Given the description of an element on the screen output the (x, y) to click on. 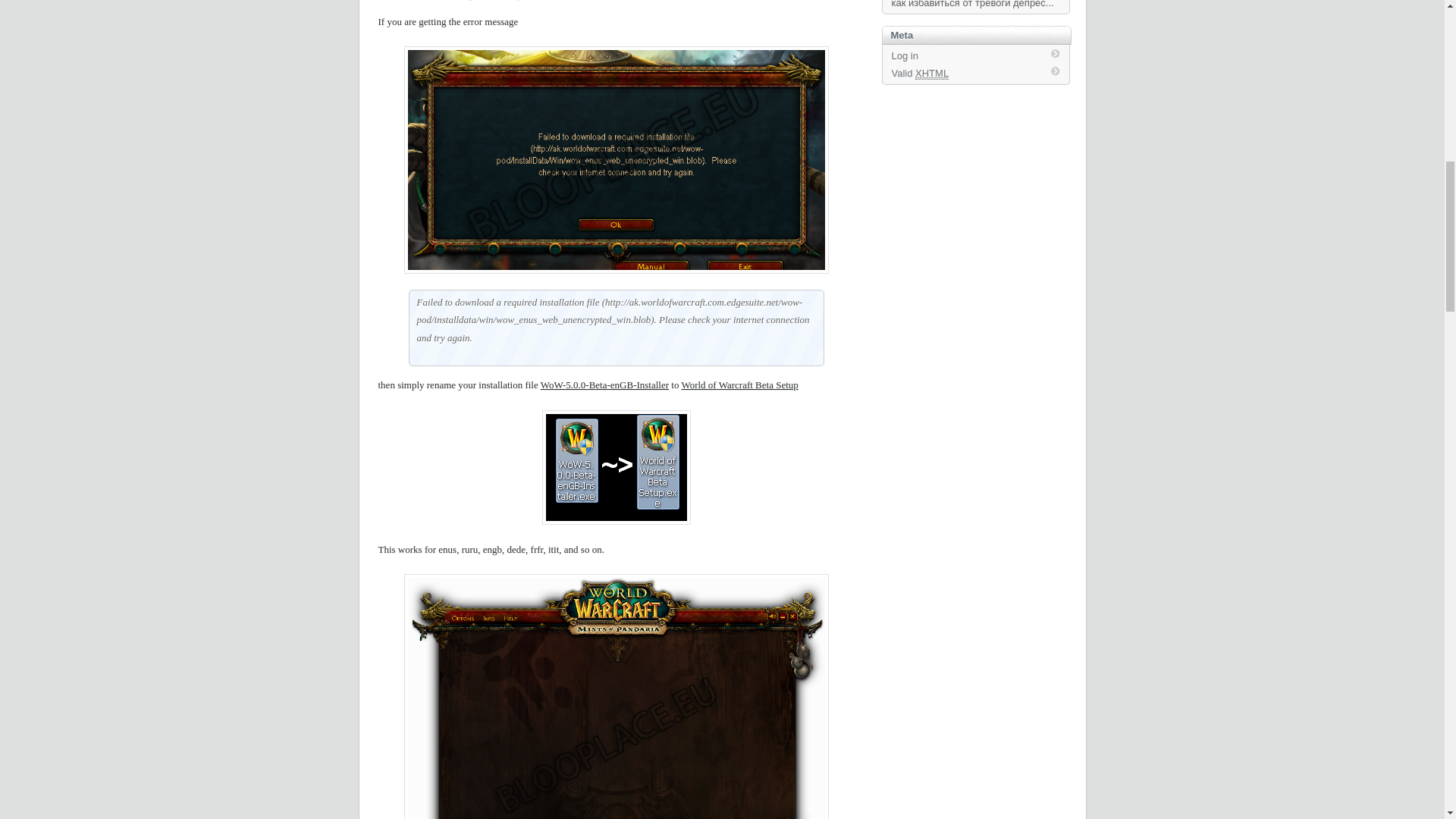
wow download error fixed (615, 696)
wow error download 1 (615, 158)
wow download explanation beta error (615, 467)
